Given the description of an element on the screen output the (x, y) to click on. 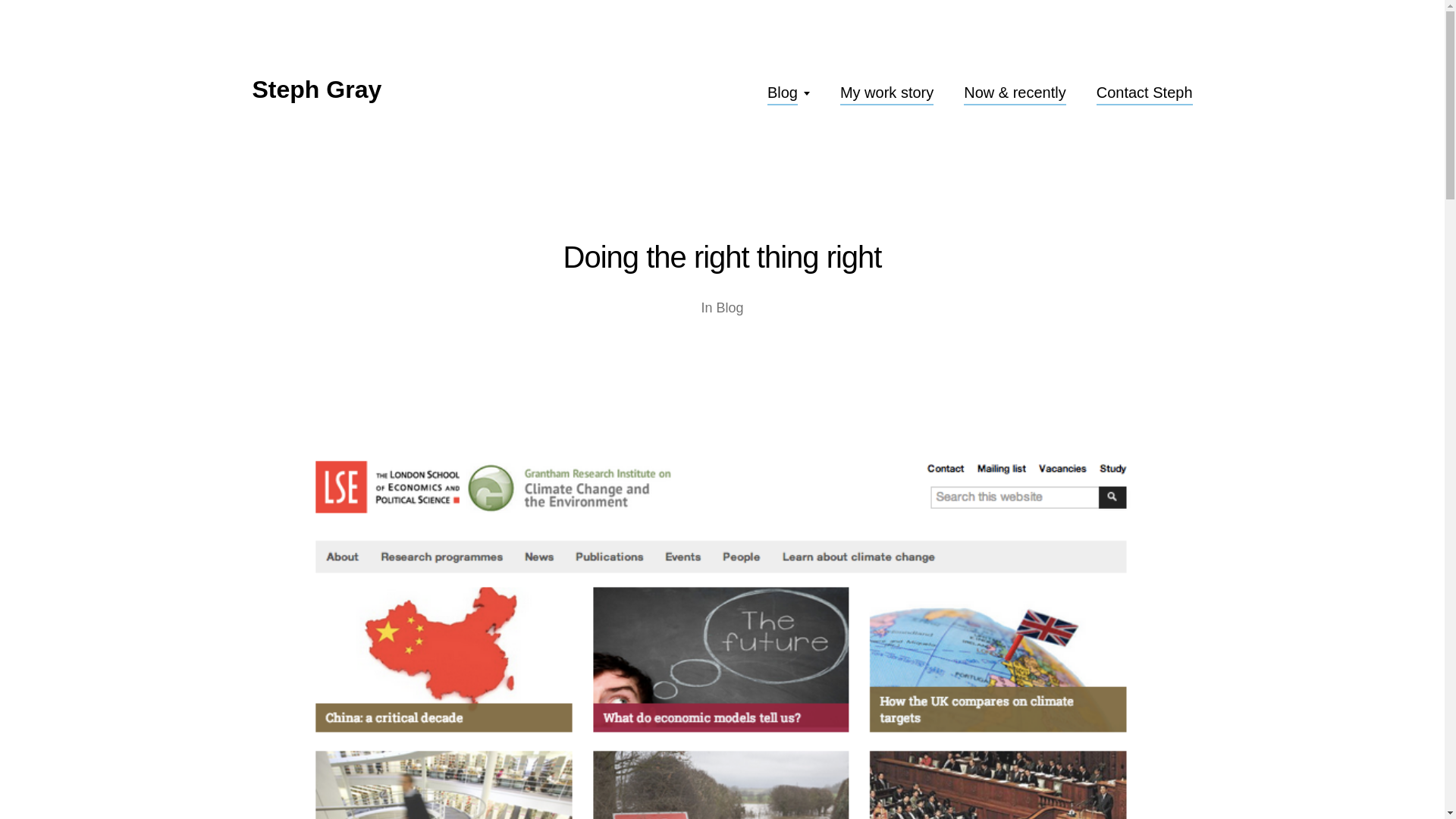
Blog (782, 93)
Steph Gray (316, 89)
My work story (886, 93)
Blog (729, 308)
Contact Steph (1144, 93)
